Given the description of an element on the screen output the (x, y) to click on. 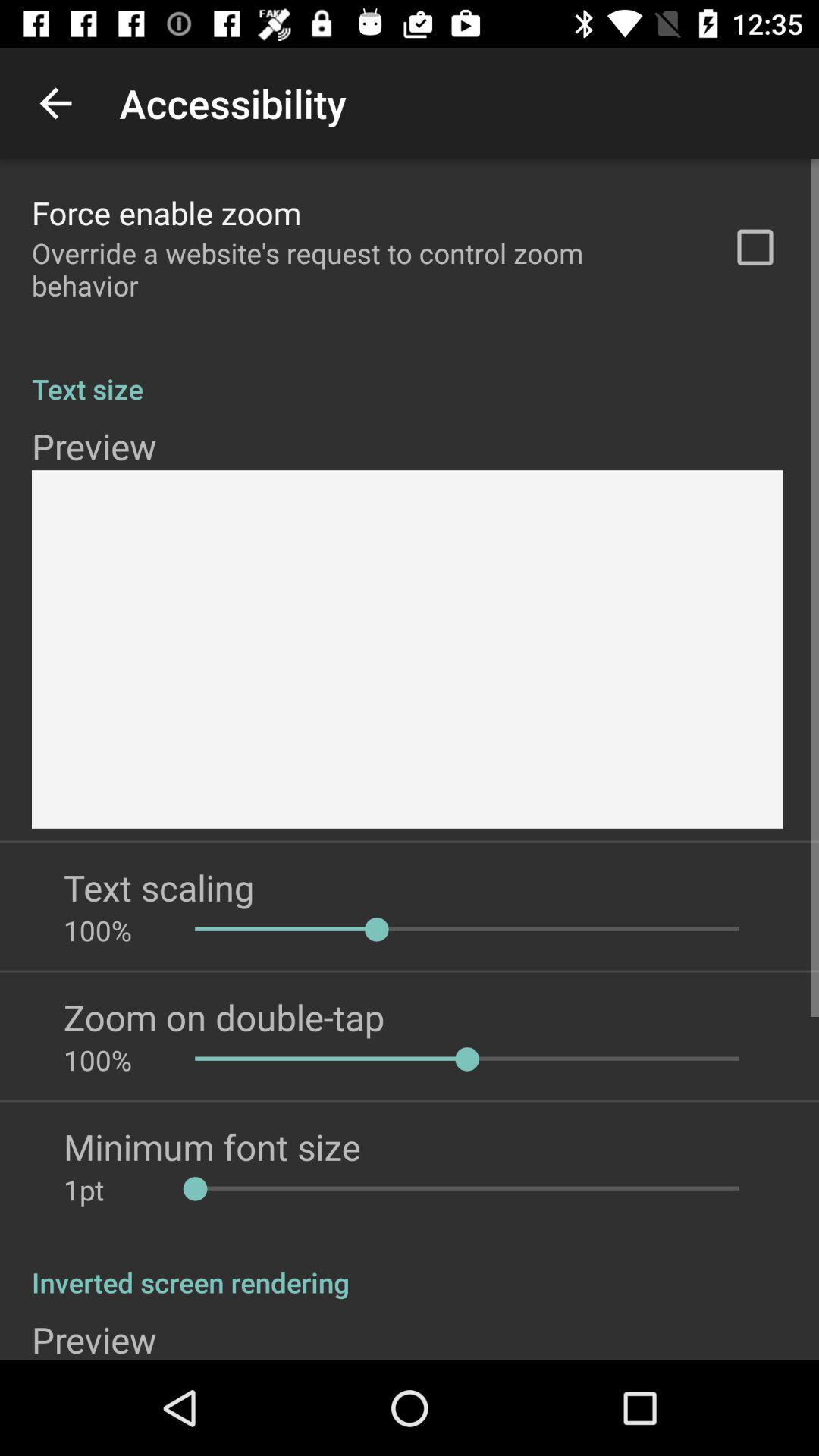
launch the icon below minimum font size app (113, 1189)
